Given the description of an element on the screen output the (x, y) to click on. 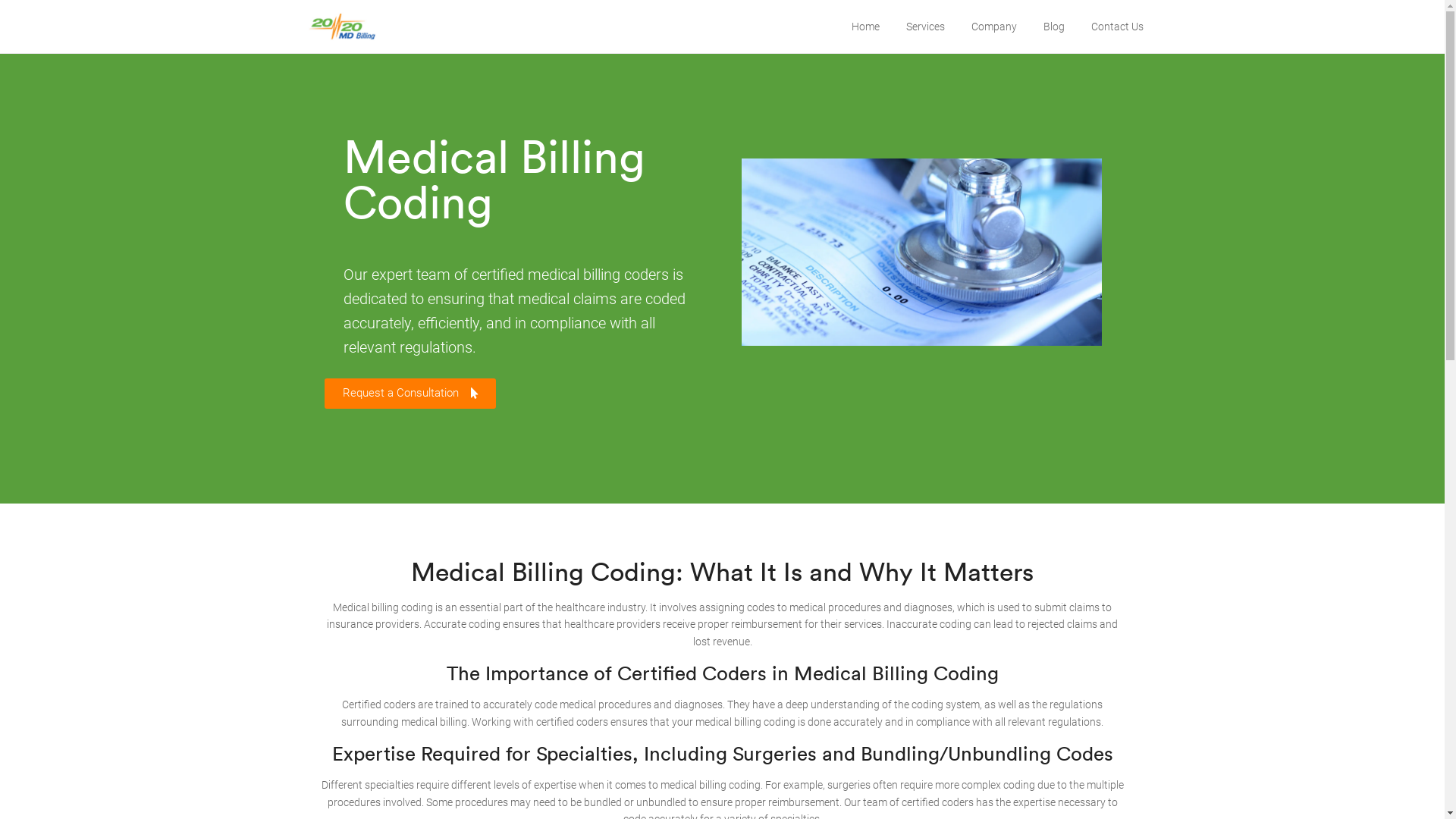
Blog Element type: text (312, 666)
Contact Us Element type: text (1116, 26)
Medical Auditing Element type: text (630, 666)
Physician Credentialing Element type: text (647, 693)
Blog Element type: text (1053, 26)
About Element type: text (315, 638)
Home Element type: text (864, 26)
Medical Billing Coding Element type: text (643, 610)
Revenue Cycle Management Element type: text (658, 721)
Home Element type: text (315, 610)
WOWbix Marketing Element type: text (786, 794)
Medical Billing Service Element type: text (644, 638)
Company Element type: text (993, 26)
Services Element type: text (924, 26)
Request a Consultation Element type: text (409, 393)
Contact Us Element type: text (327, 693)
